Given the description of an element on the screen output the (x, y) to click on. 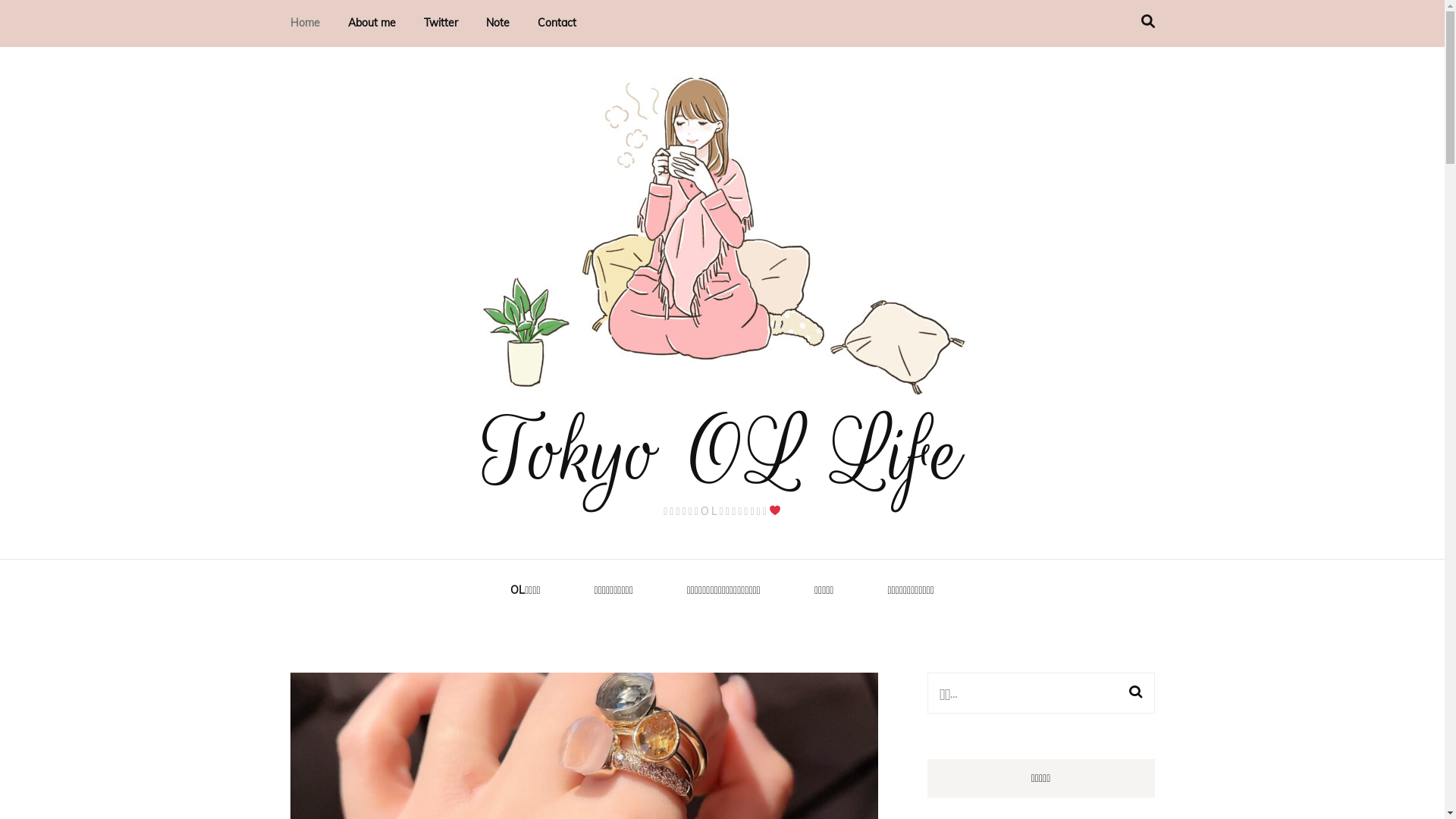
Twitter Element type: text (440, 23)
Home Element type: text (304, 23)
Contact Element type: text (555, 23)
About me Element type: text (371, 23)
Tokyo OL Life Element type: text (722, 453)
Note Element type: text (496, 23)
